Given the description of an element on the screen output the (x, y) to click on. 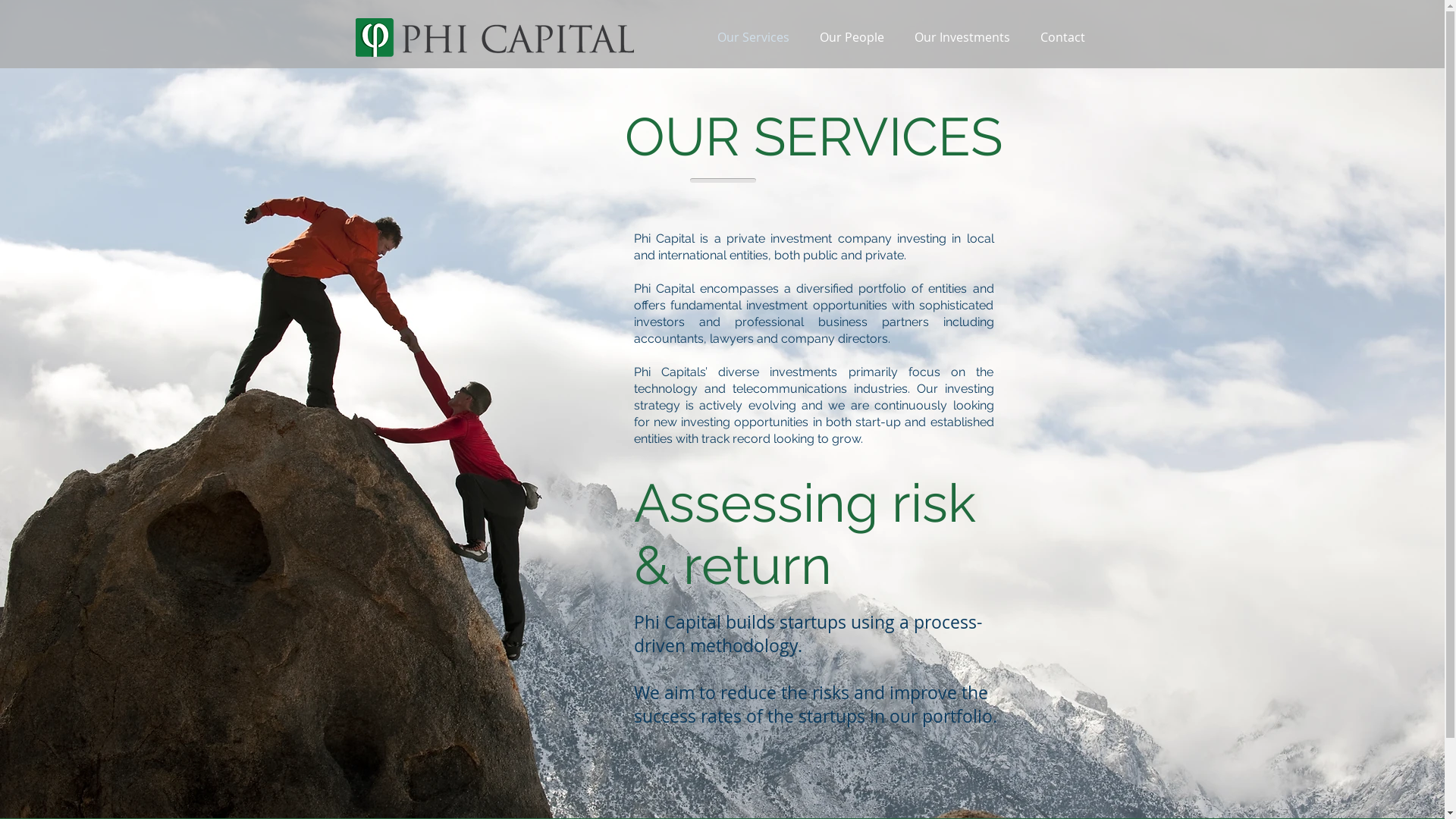
Our Investments Element type: text (962, 37)
Contact Element type: text (1062, 37)
Our People Element type: text (850, 37)
Our Services Element type: text (753, 37)
